Given the description of an element on the screen output the (x, y) to click on. 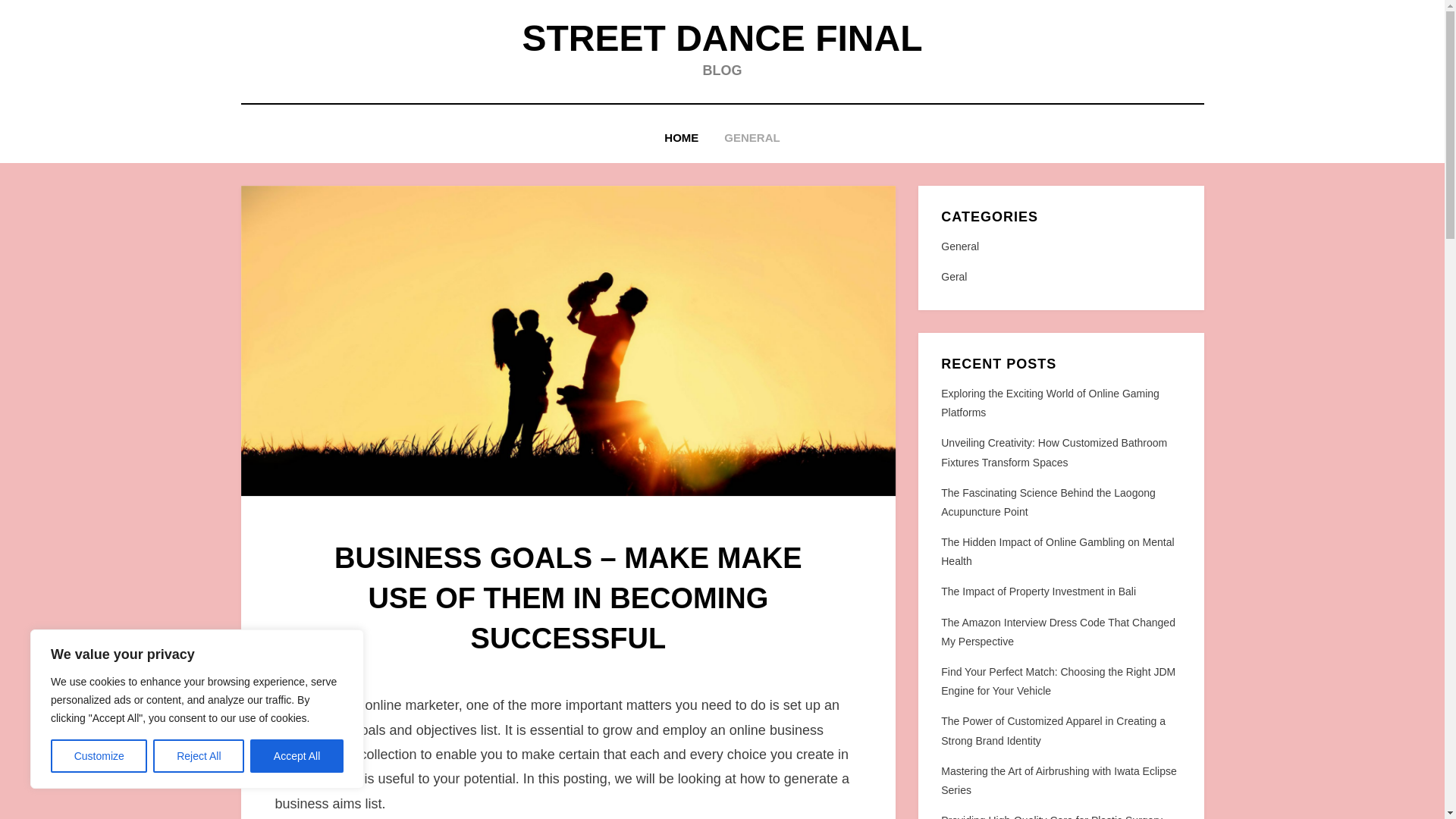
The Impact of Property Investment in Bali (1037, 591)
Exploring the Exciting World of Online Gaming Platforms (1049, 402)
STREET DANCE FINAL (721, 38)
HOME (680, 137)
Street Dance Final (721, 38)
The Hidden Impact of Online Gambling on Mental Health (1056, 551)
The Fascinating Science Behind the Laogong Acupuncture Point (1048, 501)
Customize (98, 756)
Geral (1060, 276)
GENERAL (751, 137)
General (1060, 246)
The Amazon Interview Dress Code That Changed My Perspective (1057, 631)
Reject All (198, 756)
Accept All (296, 756)
